Given the description of an element on the screen output the (x, y) to click on. 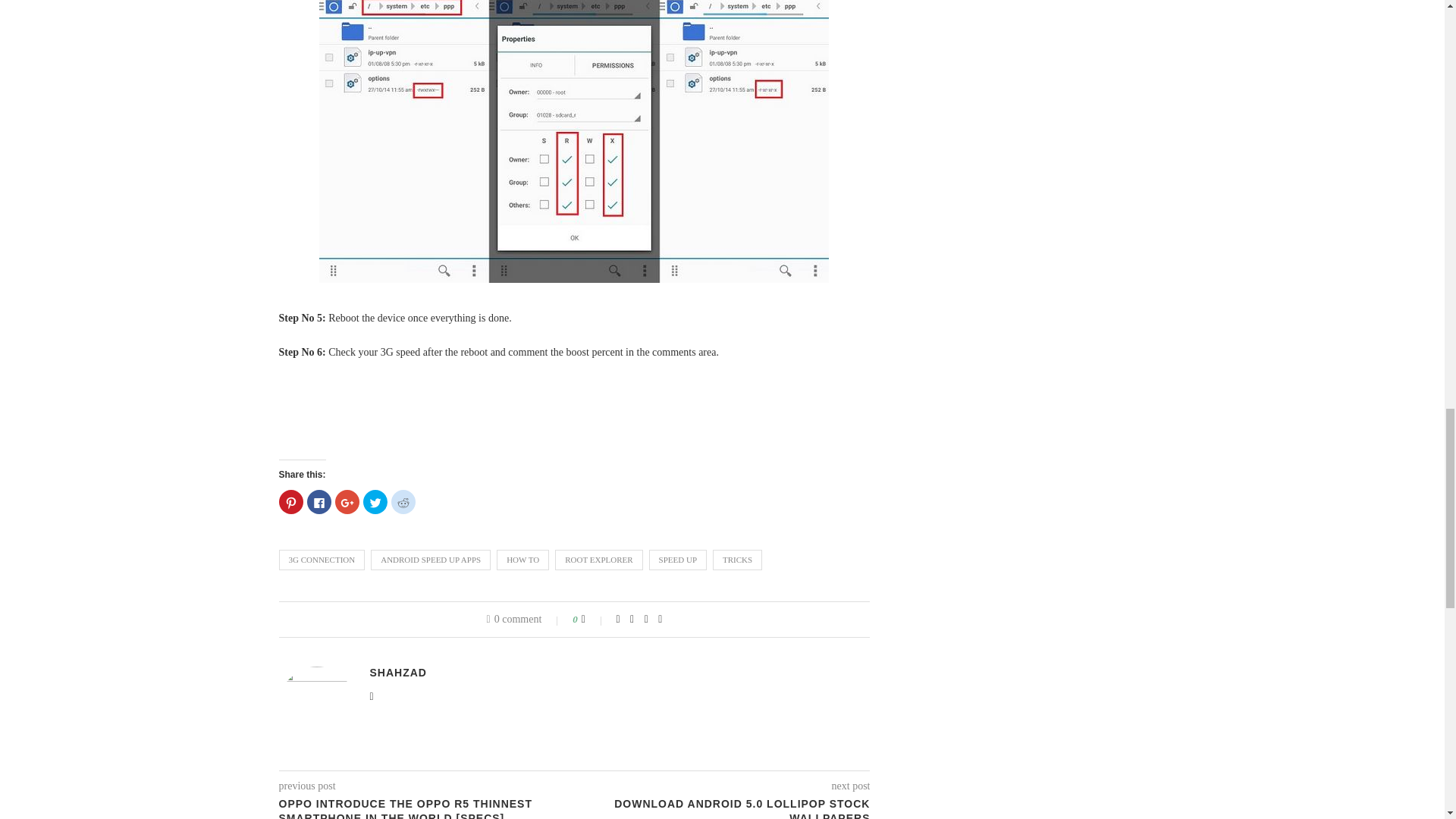
Posts by Shahzad (397, 672)
Click to share on Reddit (402, 501)
Click to share on Twitter (374, 501)
Click to share on Facebook (317, 501)
Click to share on Pinterest (290, 501)
Like (592, 619)
